Given the description of an element on the screen output the (x, y) to click on. 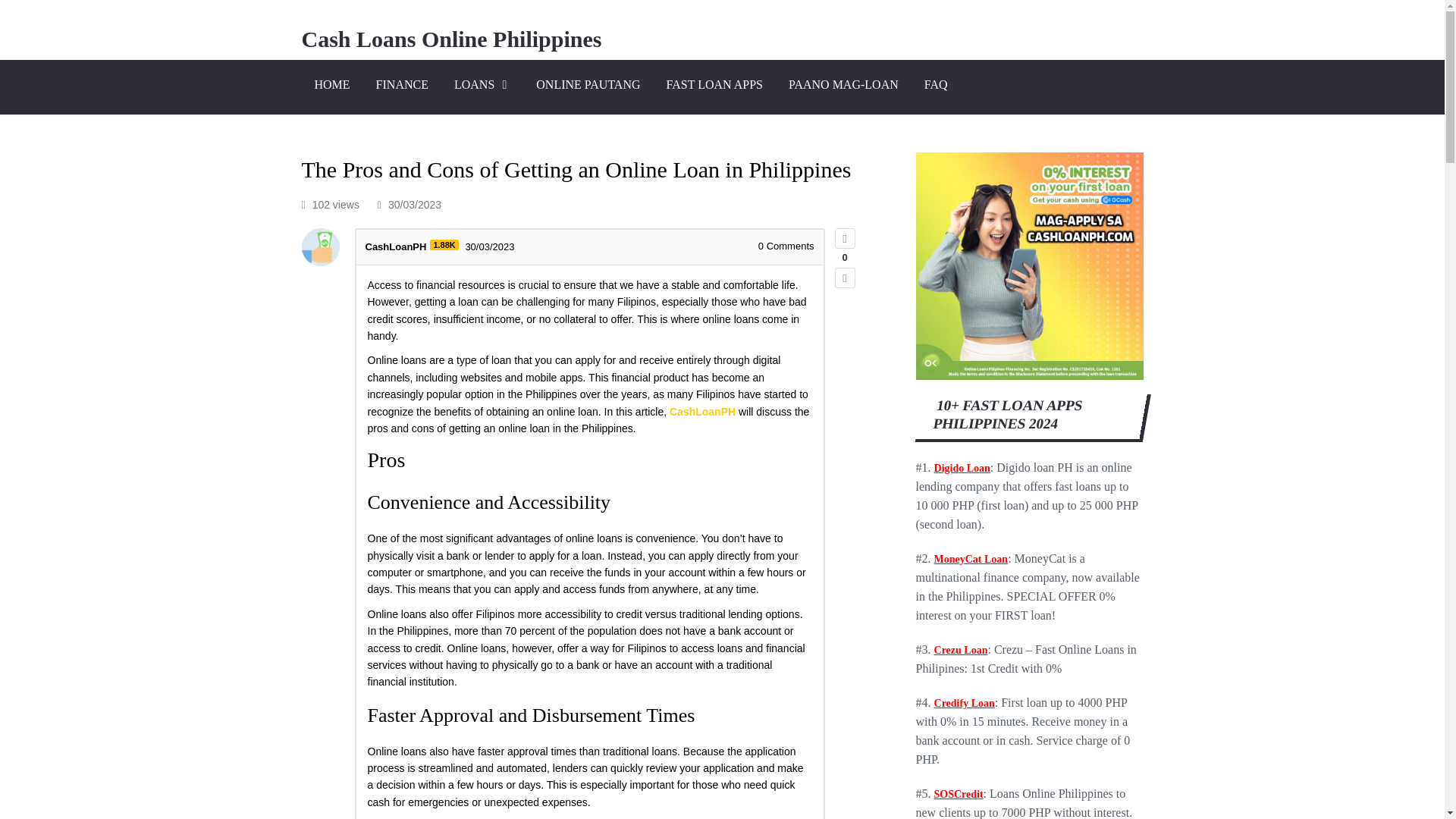
Up vote this question (844, 238)
FAST LOAN APPS (714, 86)
Down vote this question (844, 277)
FAQ (935, 86)
Reputation (443, 244)
LOANS (481, 86)
HOME (331, 86)
Cash Loans Online Philippines (451, 38)
PAANO MAG-LOAN (843, 86)
ONLINE PAUTANG (587, 86)
FINANCE (401, 86)
